Given the description of an element on the screen output the (x, y) to click on. 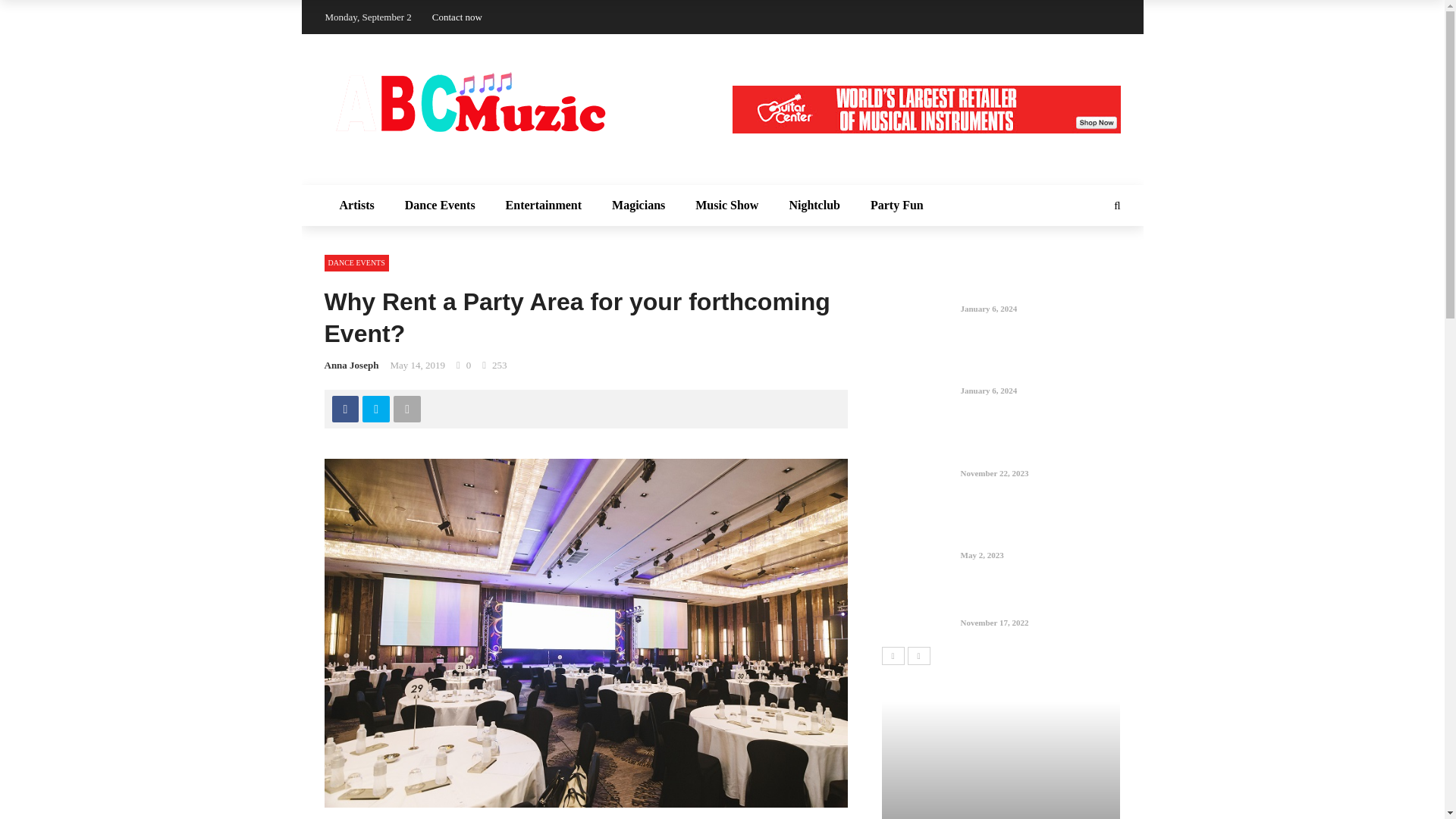
Dance Events (440, 205)
Party Fun (897, 205)
Magicians (637, 205)
Anna Joseph (351, 365)
Contact now (456, 16)
Nightclub (814, 205)
Music Show (726, 205)
Entertainment (543, 205)
Artists (357, 205)
DANCE EVENTS (356, 262)
